Given the description of an element on the screen output the (x, y) to click on. 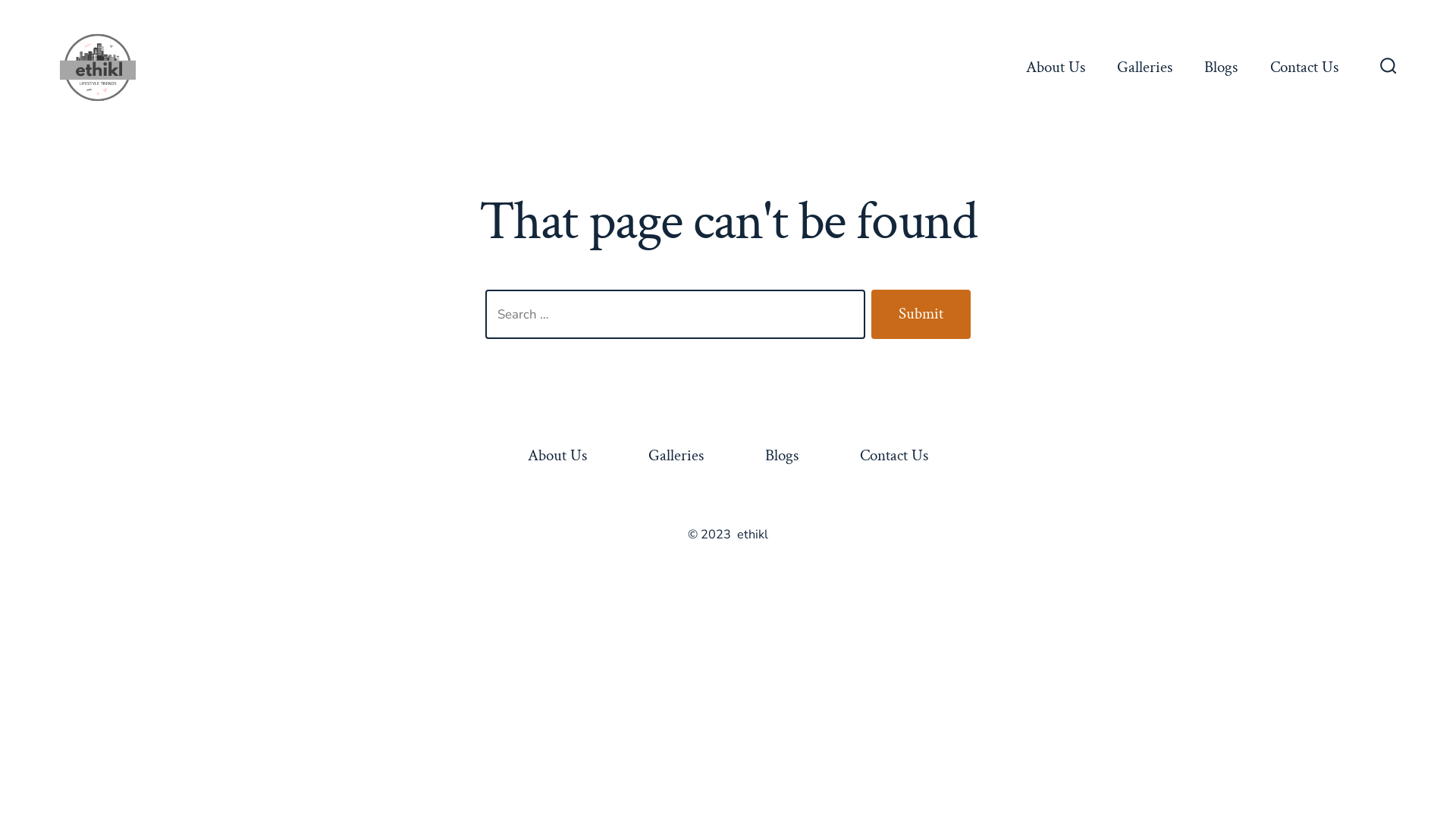
Contact Us Element type: text (1304, 67)
Search Toggle Element type: text (1388, 67)
Contact Us Element type: text (893, 455)
About Us Element type: text (557, 455)
About Us Element type: text (1055, 67)
Blogs Element type: text (781, 455)
Blogs Element type: text (1220, 67)
Galleries Element type: text (676, 455)
Galleries Element type: text (1144, 67)
Submit Element type: text (920, 314)
